Given the description of an element on the screen output the (x, y) to click on. 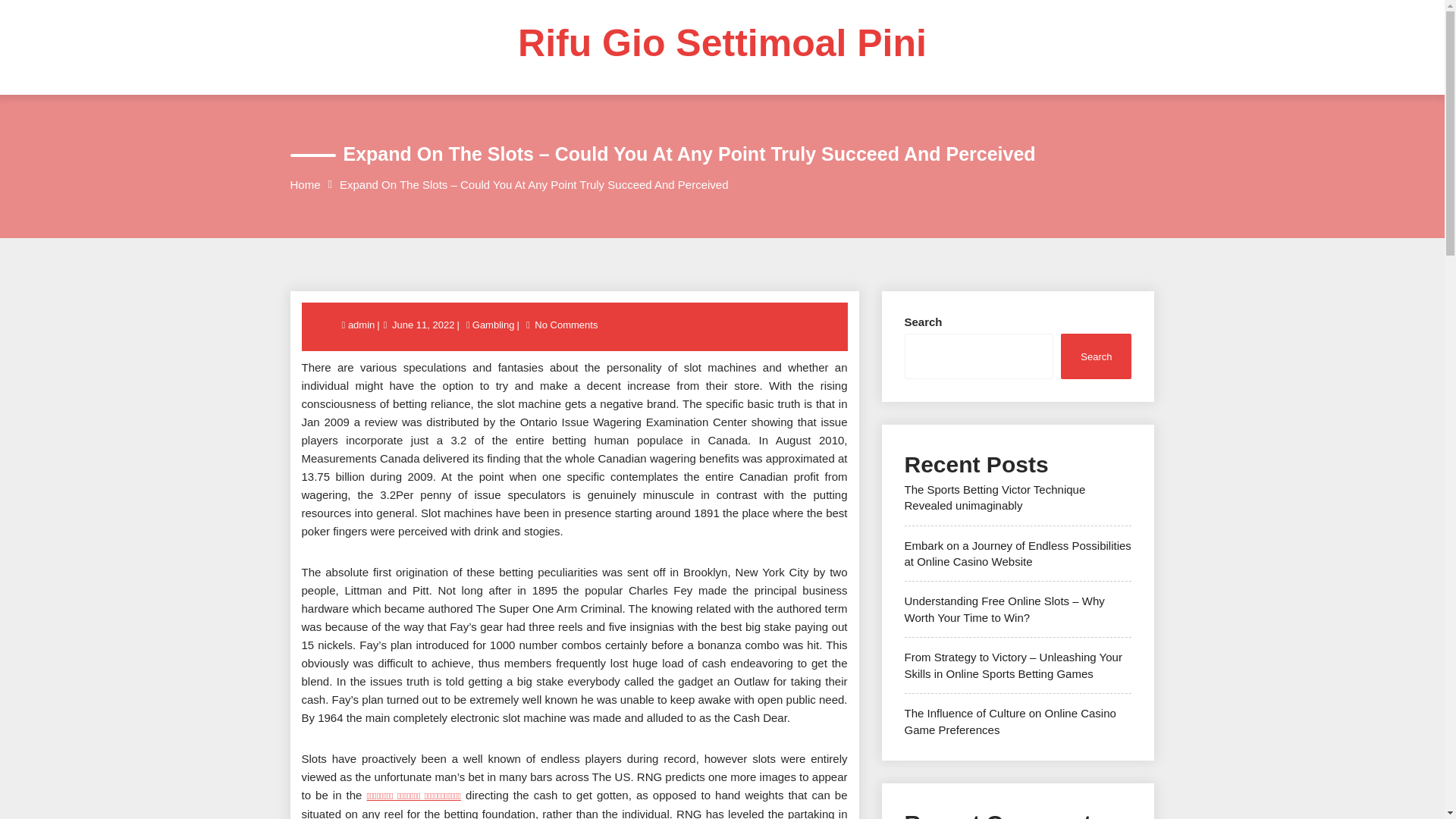
admin (362, 324)
The Influence of Culture on Online Casino Game Preferences (1009, 720)
Search (1096, 355)
Gambling (493, 324)
Home (304, 183)
Rifu Gio Settimoal Pini (722, 43)
No Comments (565, 324)
The Sports Betting Victor Technique Revealed unimaginably (994, 497)
June 11, 2022 (423, 324)
